Given the description of an element on the screen output the (x, y) to click on. 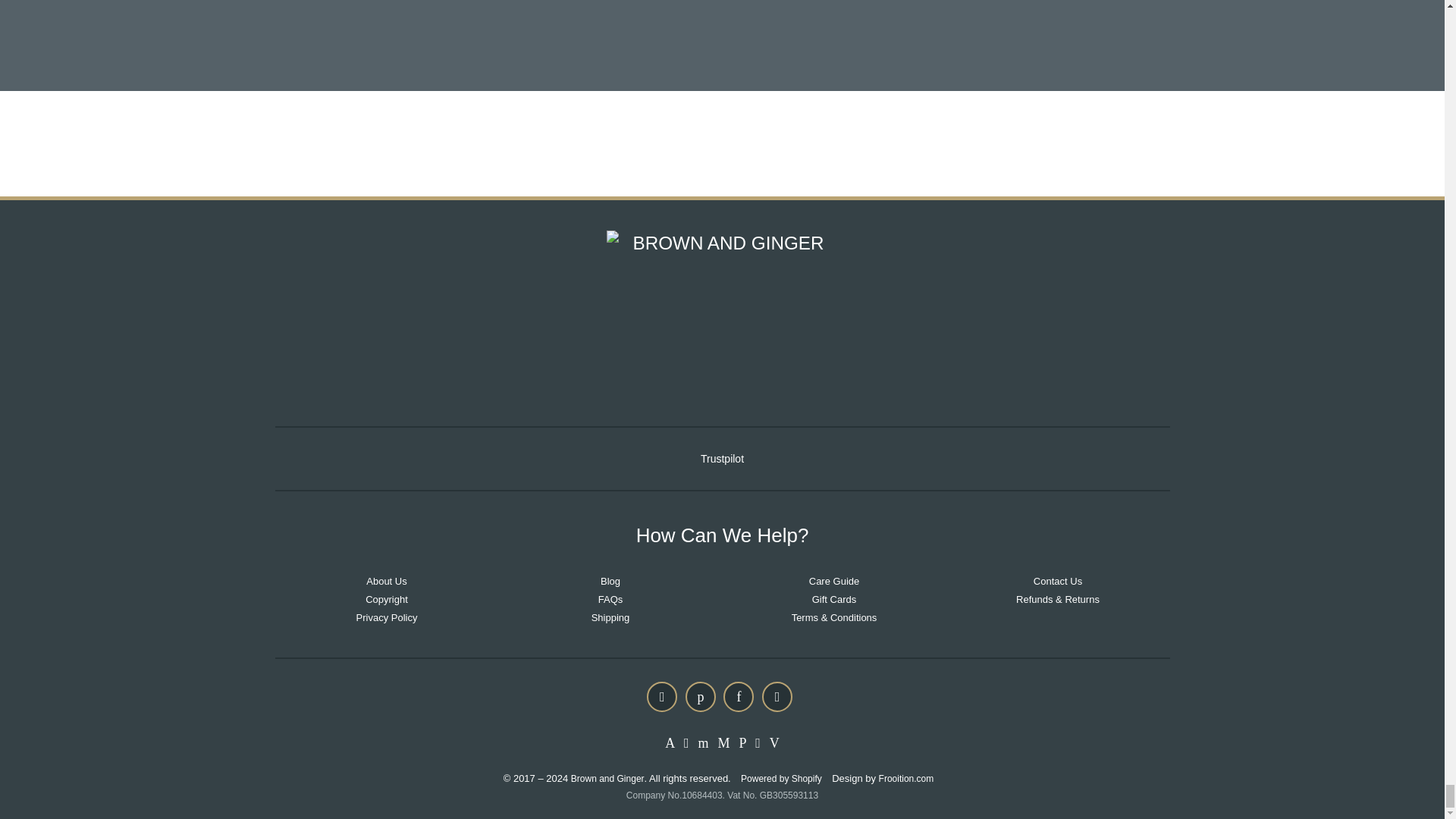
Brown and Ginger on Facebook (738, 696)
Brown and Ginger on Pinterest (700, 696)
Brown and Ginger on TikTok (776, 696)
Brown and Ginger on Instagram (661, 696)
